Given the description of an element on the screen output the (x, y) to click on. 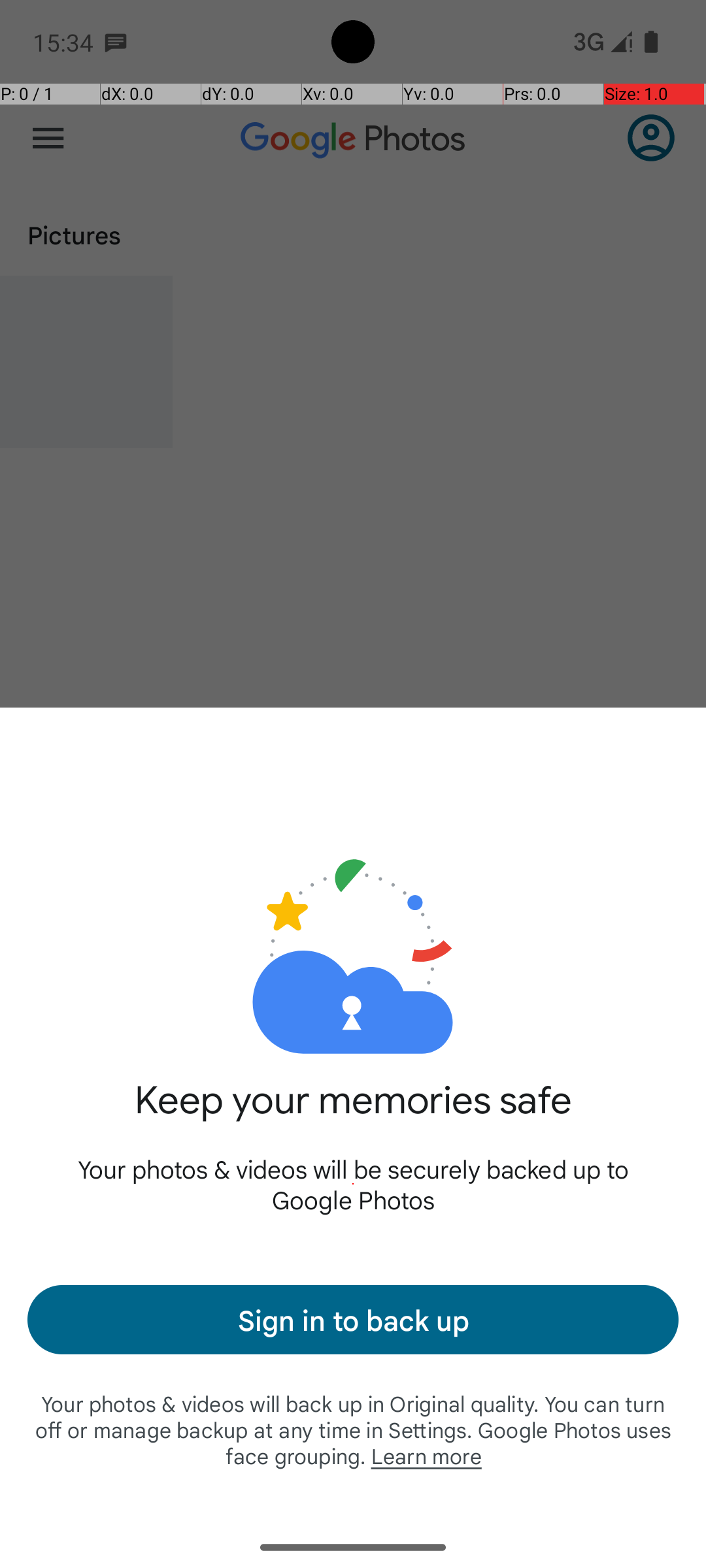
Photos and videos stored in a cloud Element type: android.widget.ImageView (352, 913)
Keep your memories safe Element type: android.widget.TextView (352, 1113)
Your photos & videos will be securely backed up to Google Photos Element type: android.widget.TextView (352, 1183)
Sign in to back up Element type: android.widget.Button (352, 1319)
Your photos & videos will back up in Original quality. You can turn off or manage backup at any time in Settings. Google Photos uses face grouping. Learn more Element type: android.widget.TextView (352, 1429)
SMS Messenger notification: +17247648679 Element type: android.widget.ImageView (115, 41)
